Given the description of an element on the screen output the (x, y) to click on. 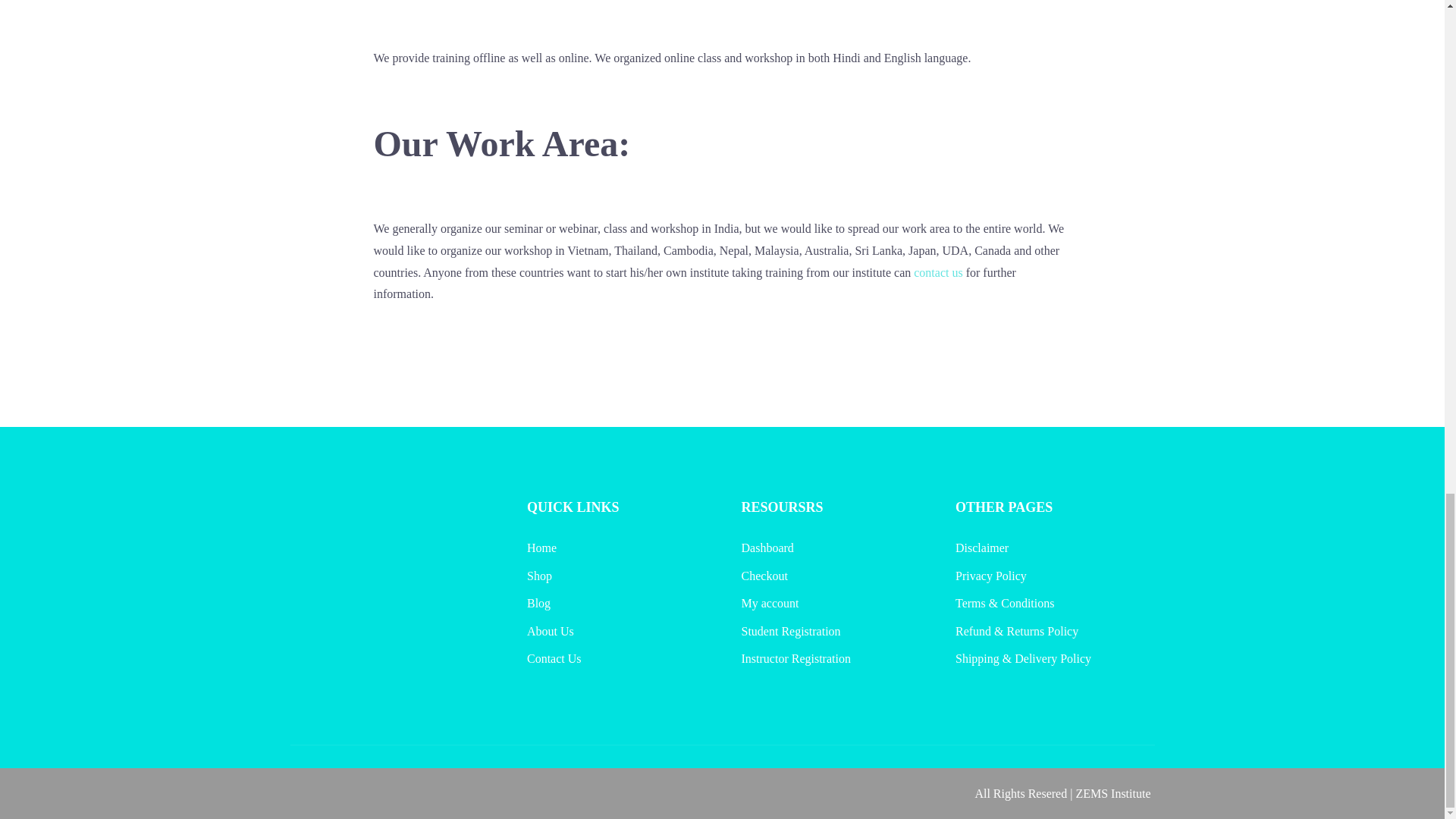
About Us (550, 631)
Checkout (764, 575)
Privacy Policy (990, 575)
contact us (938, 272)
Home (541, 547)
Shop (539, 575)
Dashboard (767, 547)
Contact Us (553, 658)
Disclaimer (982, 547)
Student Registration (791, 631)
Instructor Registration (795, 658)
My account (770, 603)
Blog (538, 603)
